Given the description of an element on the screen output the (x, y) to click on. 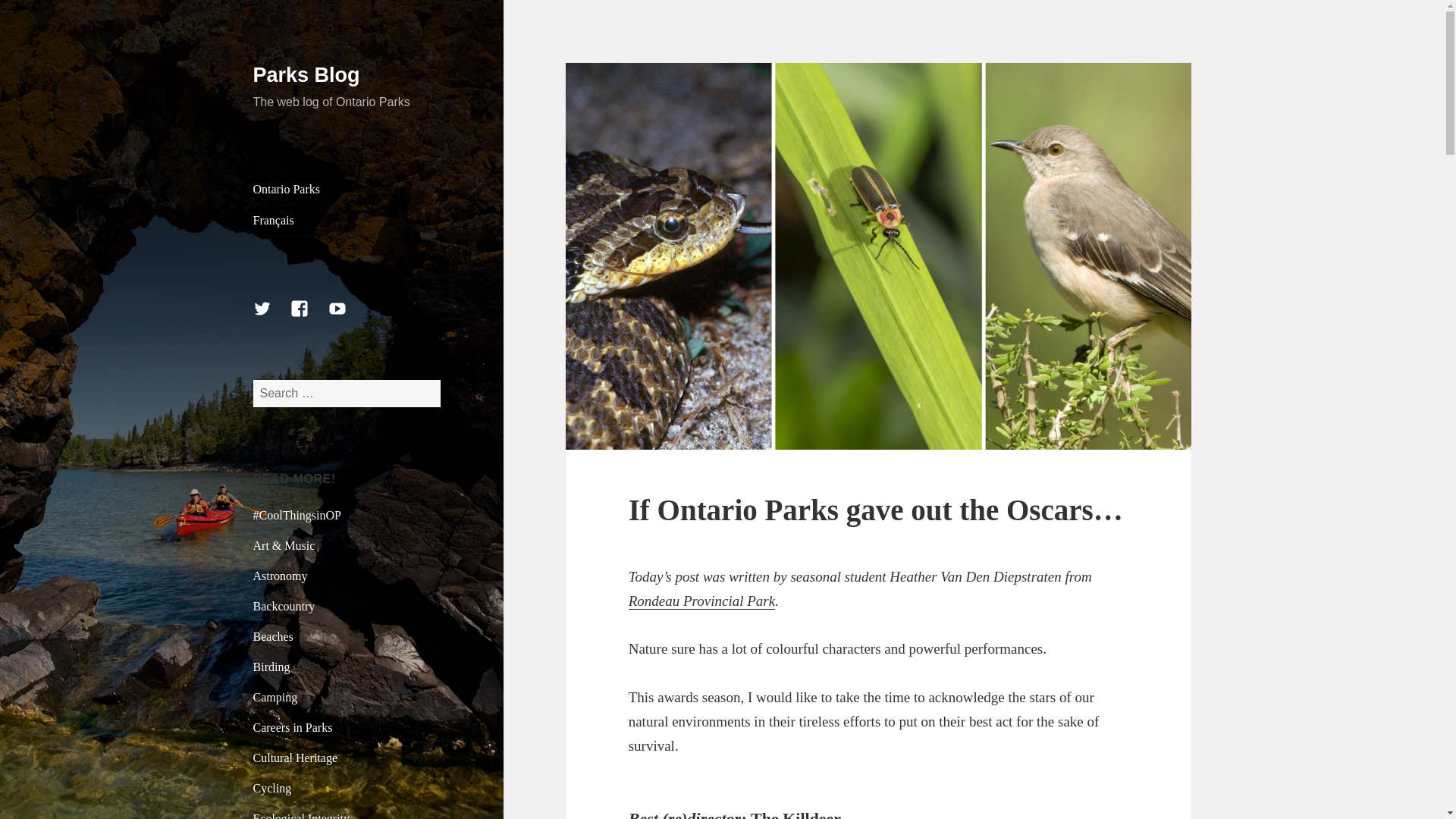
Cycling (272, 788)
Parks Blog (306, 74)
YouTube Channel (347, 317)
Facebook Page (307, 317)
Ontario Parks (347, 189)
Twitter (271, 317)
Astronomy (280, 575)
Ecological Integrity (301, 815)
Camping (275, 697)
Birding (271, 666)
Careers in Parks (293, 727)
Cultural Heritage (295, 757)
